Given the description of an element on the screen output the (x, y) to click on. 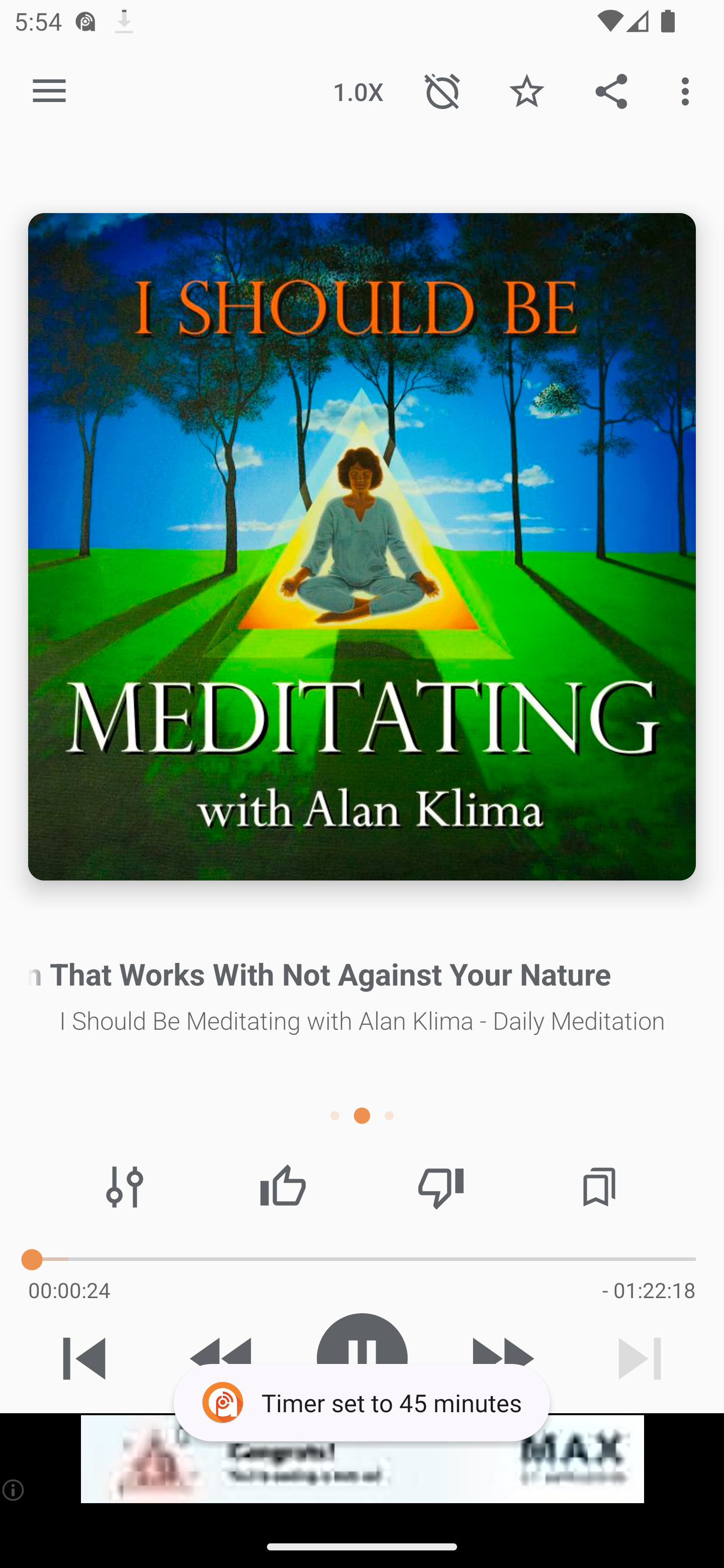
Open navigation sidebar (49, 91)
1.0X (357, 90)
Sleep Timer (442, 90)
Favorite (526, 90)
Share (611, 90)
More options (688, 90)
Episode description (361, 547)
Audio effects (124, 1186)
Thumbs up (283, 1186)
Thumbs down (440, 1186)
Chapters / Bookmarks (598, 1186)
- 01:22:18 (648, 1289)
Previous track (84, 1358)
Skip 15s backward (222, 1358)
Play / Pause (362, 1358)
Skip 30s forward (500, 1358)
Next track (639, 1358)
app-monetization (362, 1459)
(i) (14, 1489)
